Given the description of an element on the screen output the (x, y) to click on. 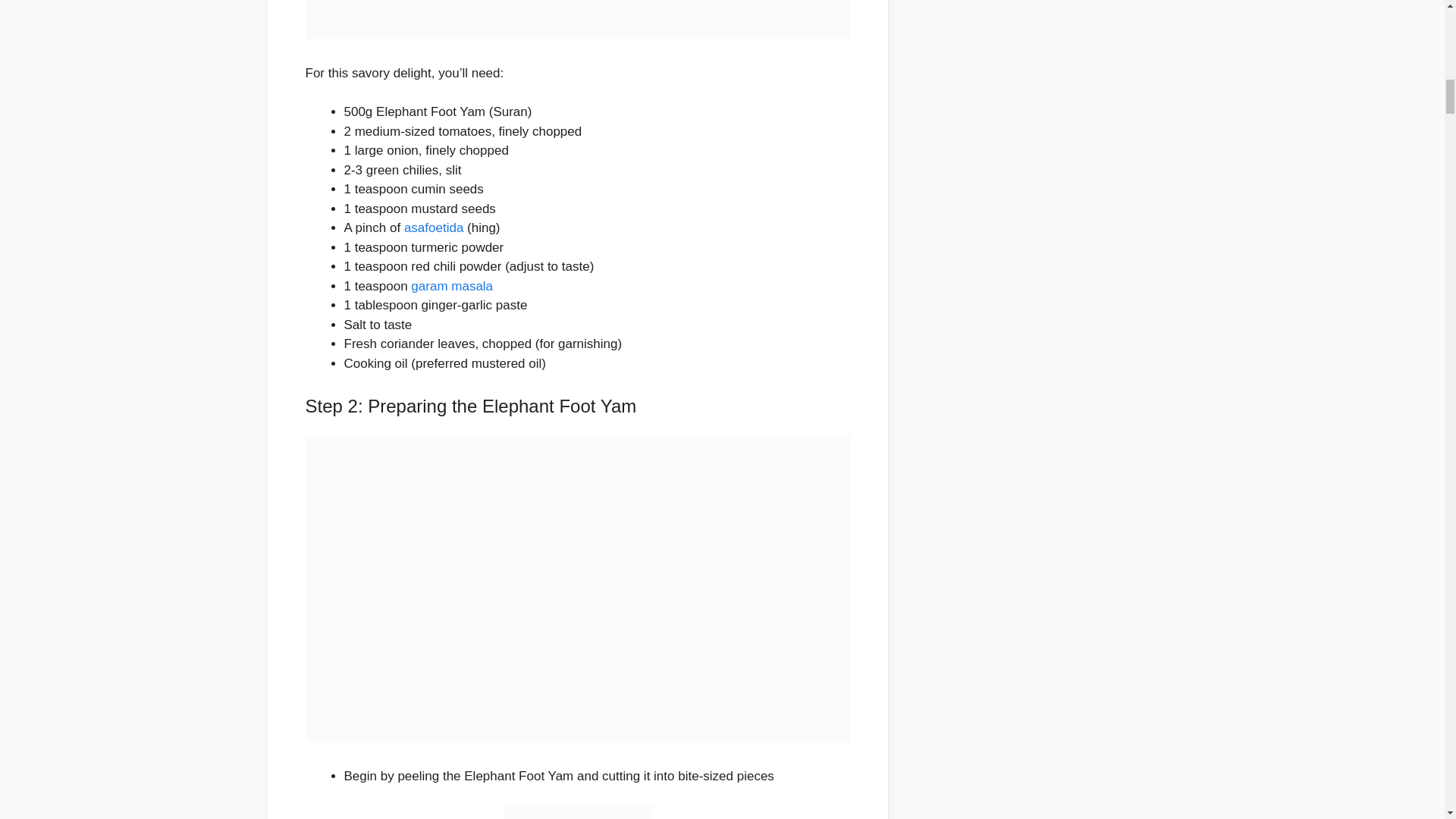
Gather Your Ingredients (576, 19)
garam masala (451, 286)
asafoetida (433, 227)
